Given the description of an element on the screen output the (x, y) to click on. 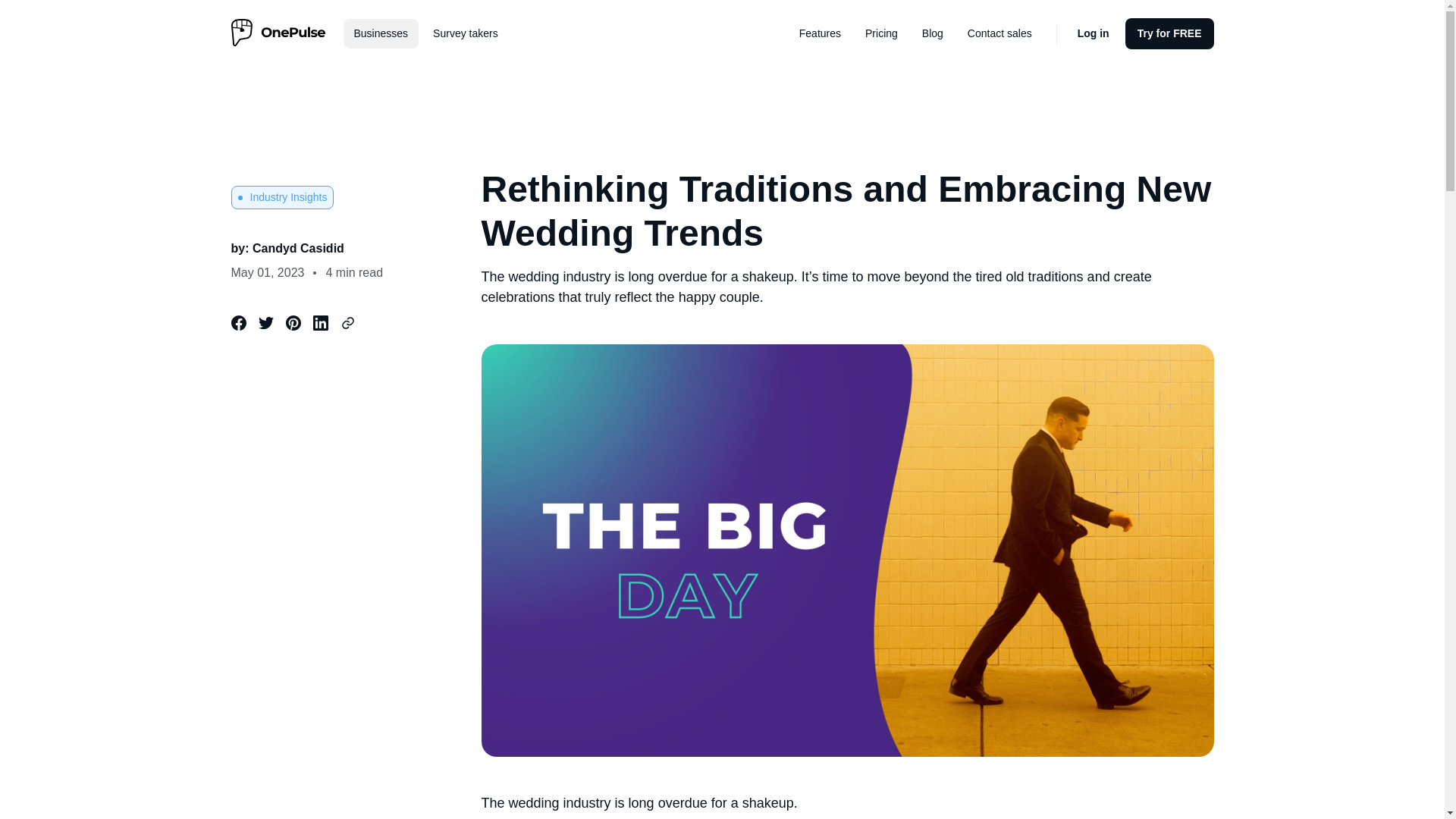
Blog (932, 33)
Log in (1093, 33)
Try for FREE (1169, 33)
Survey takers (465, 33)
Pricing (881, 33)
Contact sales (999, 33)
Businesses (380, 33)
Features (820, 33)
